Given the description of an element on the screen output the (x, y) to click on. 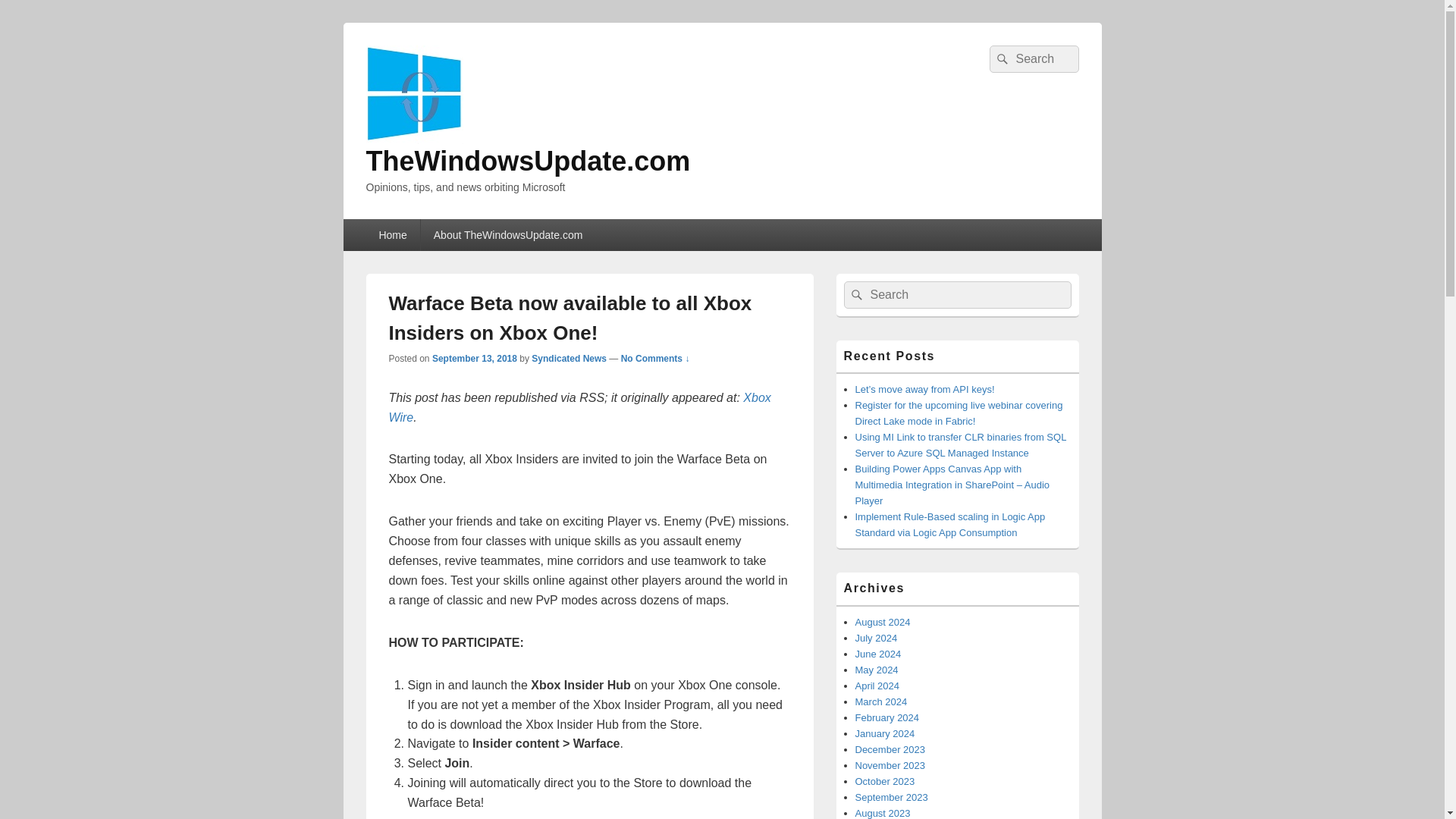
Search for: (1033, 58)
Search for: (956, 294)
October 2023 (885, 781)
TheWindowsUpdate.com (527, 160)
February 2024 (888, 717)
March 2024 (881, 701)
About TheWindowsUpdate.com (507, 234)
December 2023 (891, 749)
July 2024 (877, 637)
